Given the description of an element on the screen output the (x, y) to click on. 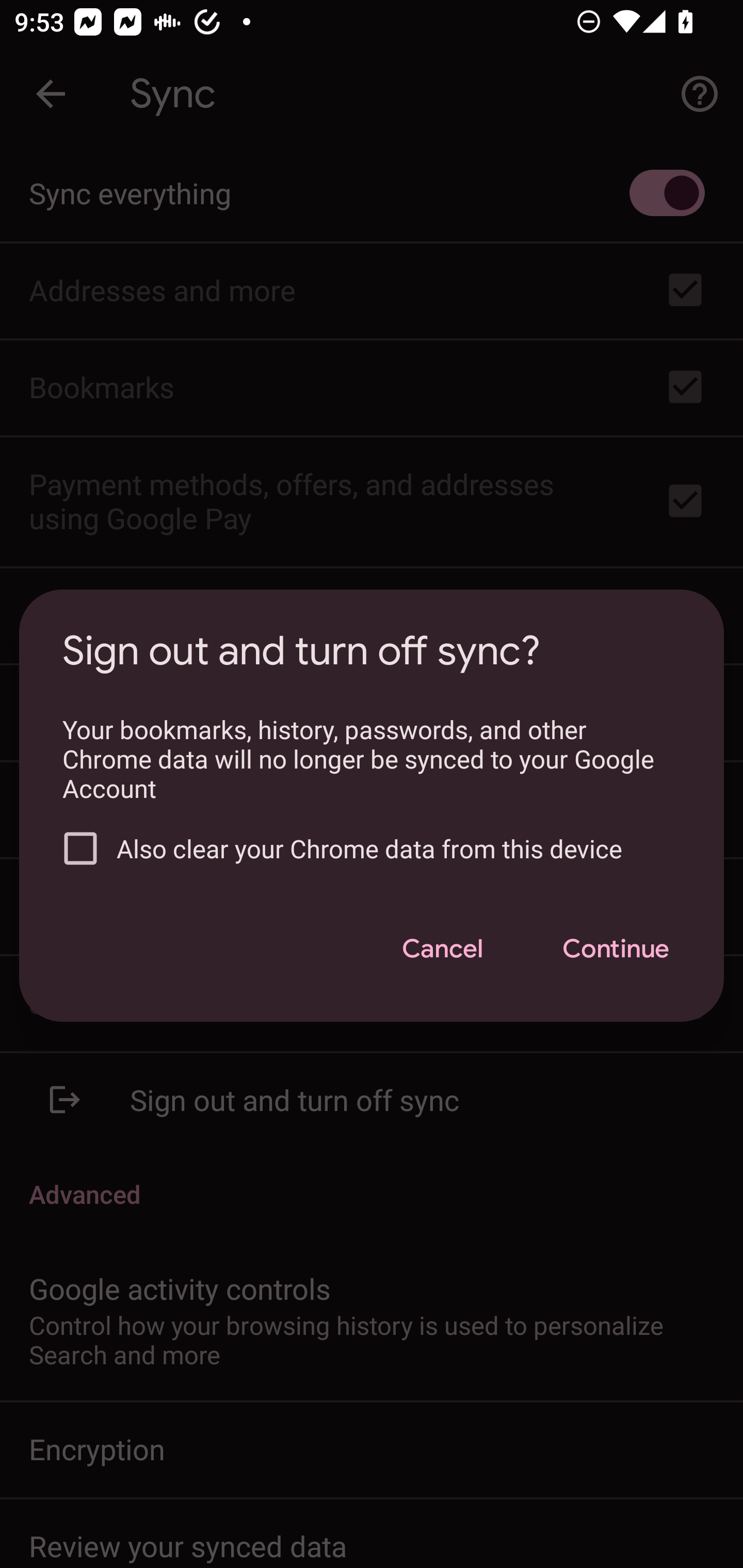
Also clear your Chrome data from this device (364, 849)
Cancel (441, 949)
Continue (615, 949)
